Given the description of an element on the screen output the (x, y) to click on. 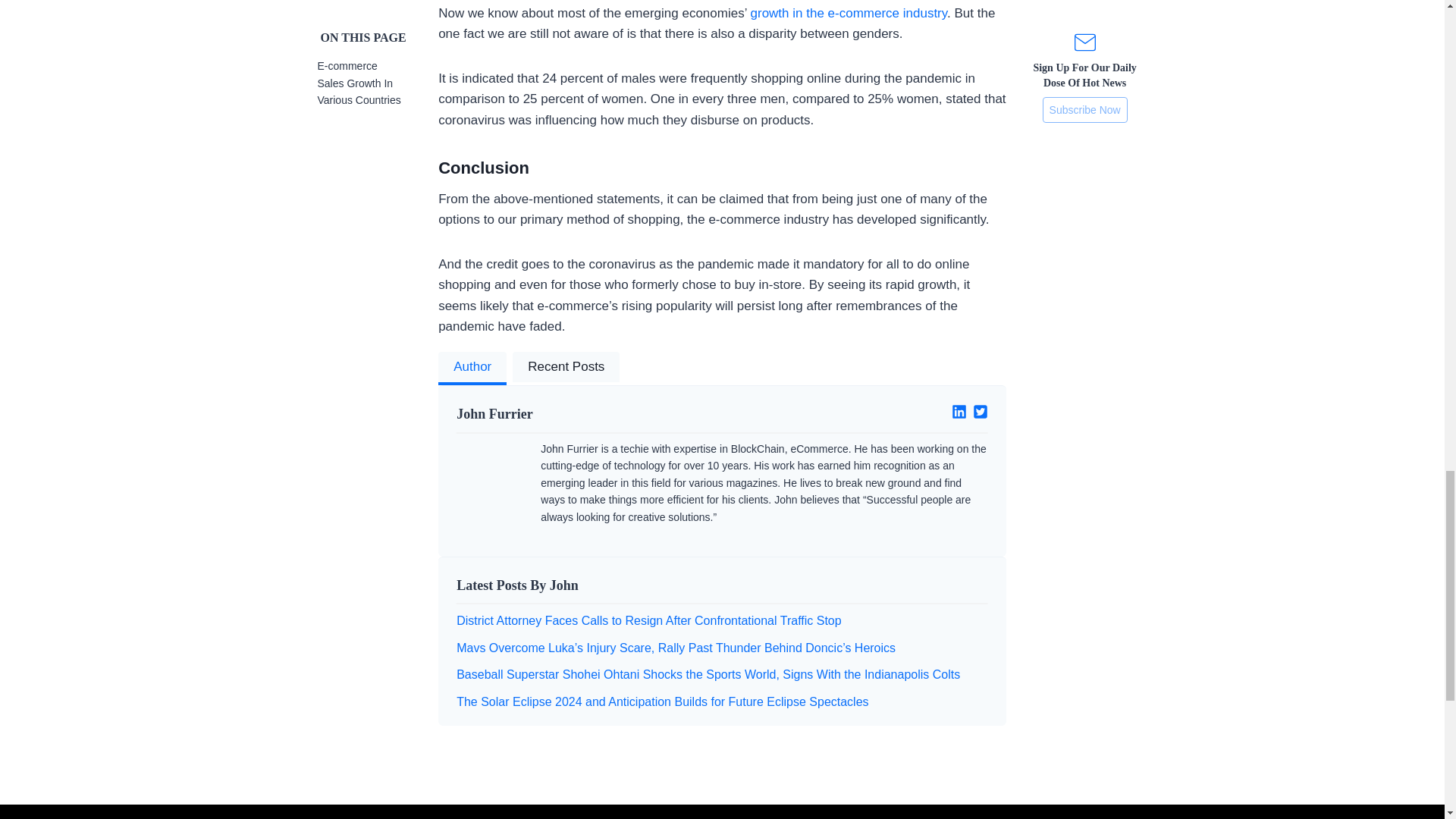
growth in the e-commerce industry (849, 12)
John Furrier (583, 414)
Recent Posts (566, 368)
Author (472, 368)
